Given the description of an element on the screen output the (x, y) to click on. 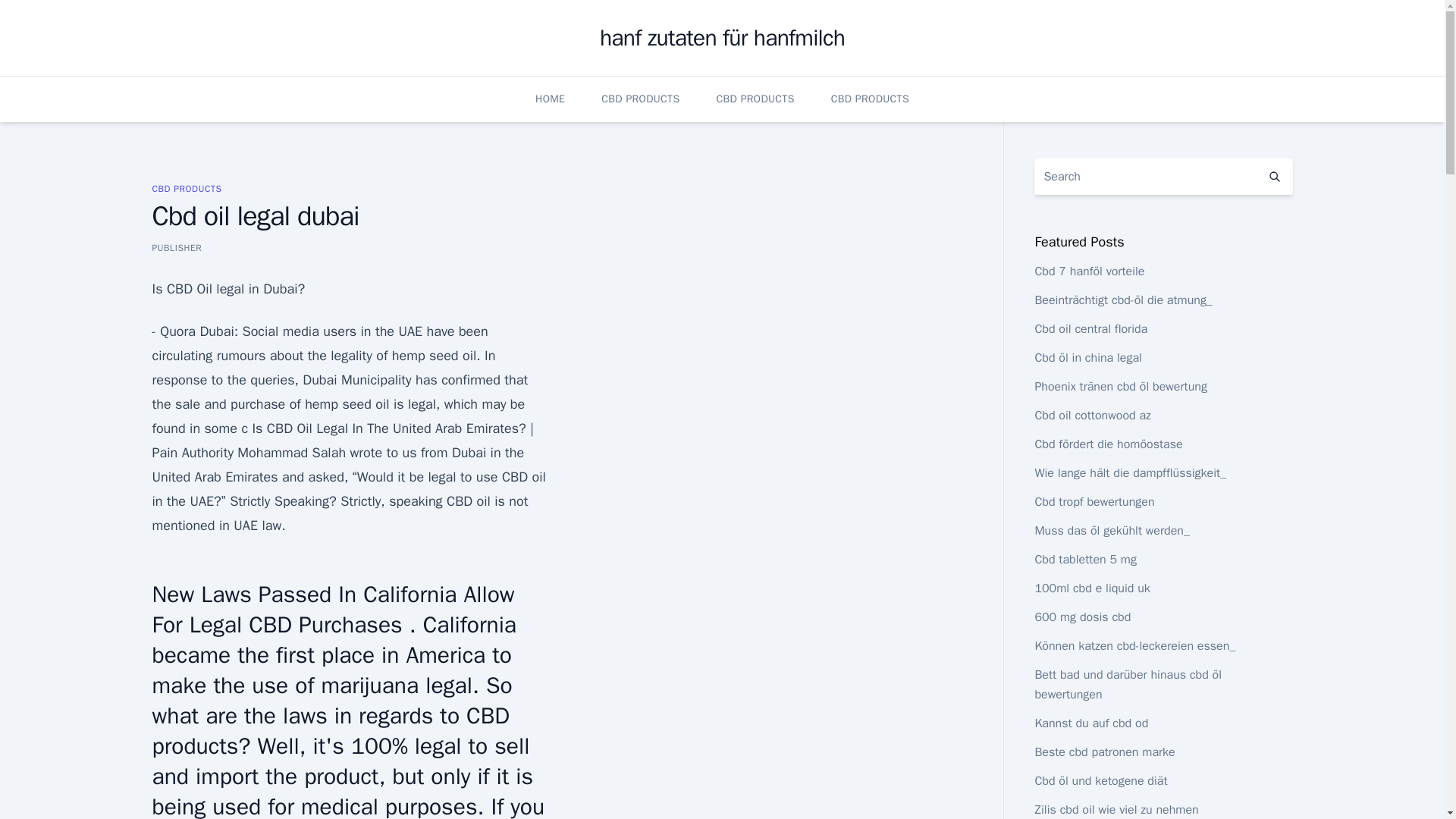
CBD PRODUCTS (754, 99)
CBD PRODUCTS (869, 99)
Cbd oil cottonwood az (1091, 415)
Cbd oil central florida (1090, 328)
PUBLISHER (176, 247)
CBD PRODUCTS (640, 99)
CBD PRODUCTS (186, 188)
